Given the description of an element on the screen output the (x, y) to click on. 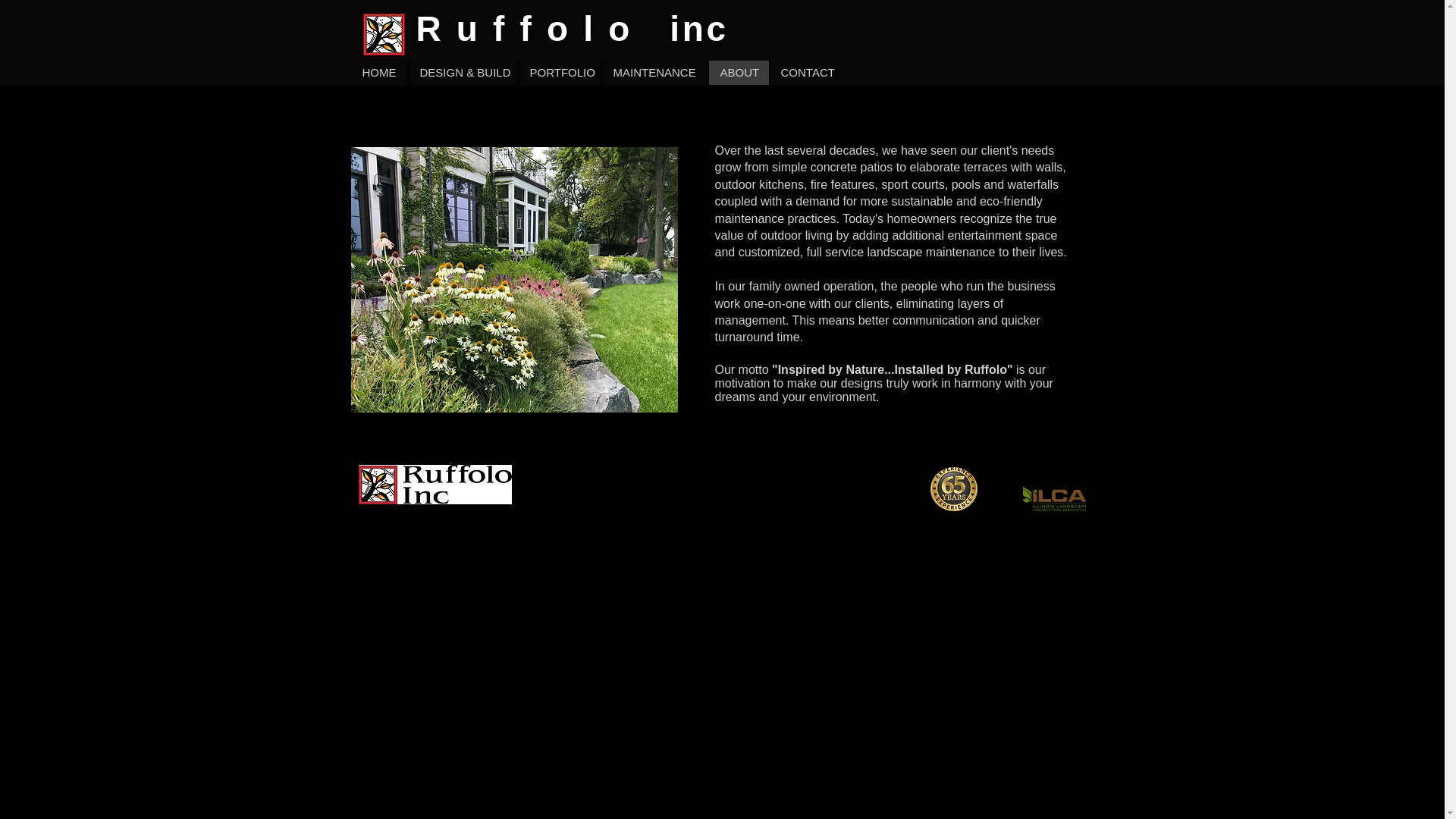
CONTACT (806, 72)
MAINTENANCE (653, 72)
PORTFOLIO (557, 72)
HOME (378, 72)
ABOUT (737, 72)
